Given the description of an element on the screen output the (x, y) to click on. 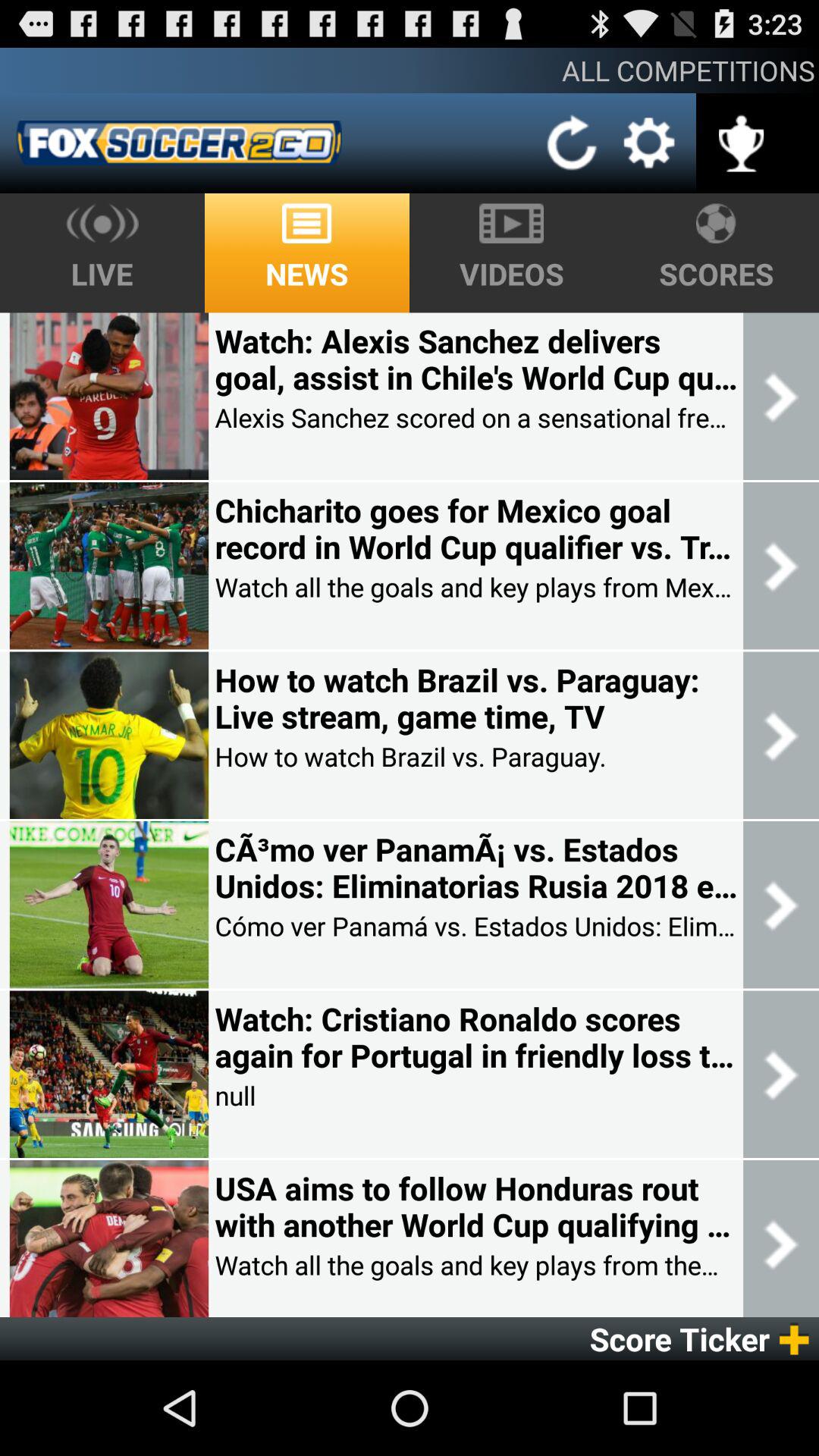
choose the item below the watch cristiano ronaldo icon (234, 1095)
